Given the description of an element on the screen output the (x, y) to click on. 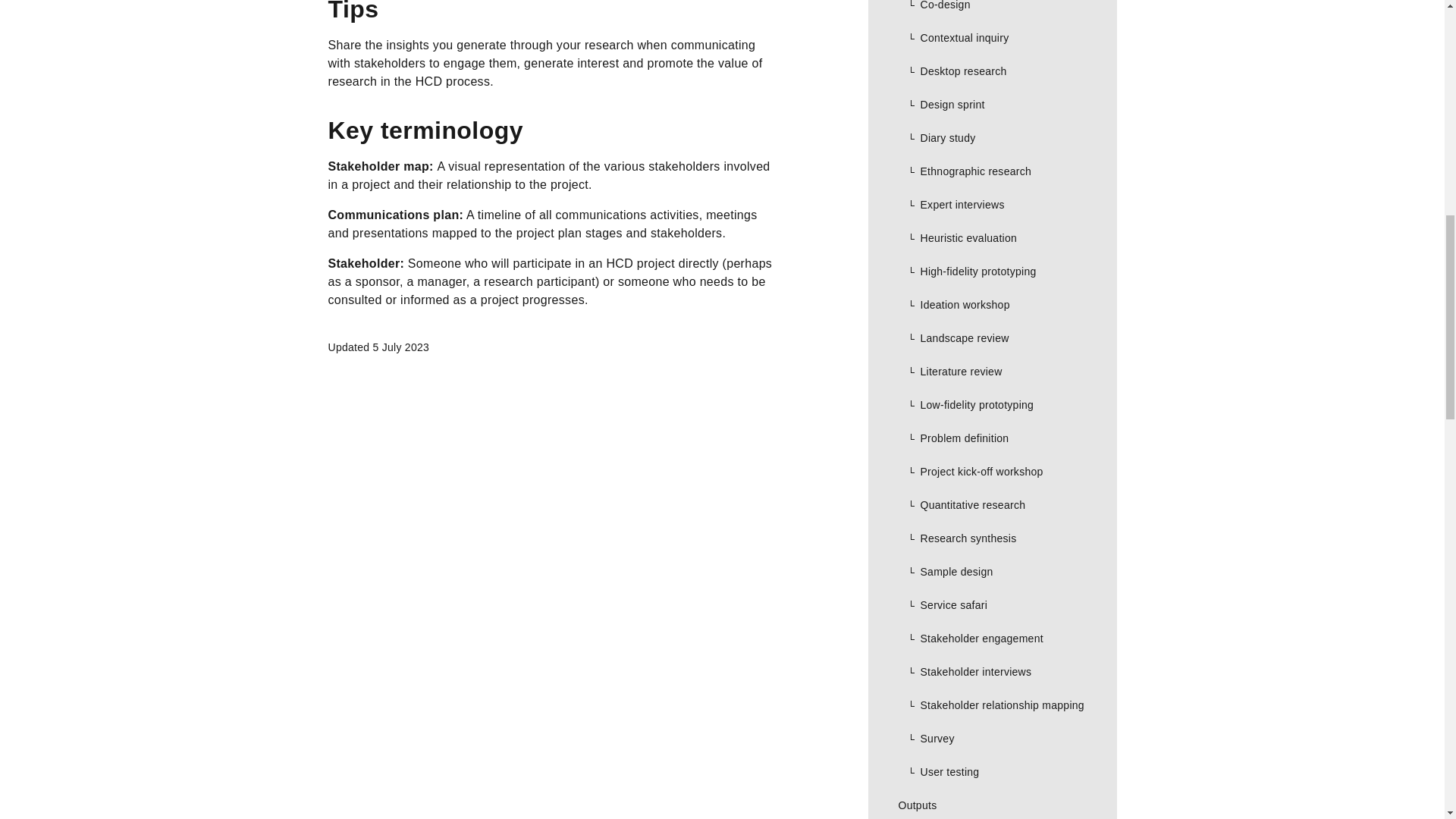
Design sprint (991, 104)
Expert interviews (991, 204)
Stakeholder interviews (991, 671)
Desktop research (991, 70)
Sample design (991, 571)
Stakeholder relationship mapping (991, 704)
Stakeholder engagement (991, 638)
Research synthesis (991, 538)
High-fidelity prototyping (991, 271)
Heuristic evaluation (991, 237)
Quantitative research (991, 504)
Ethnographic research (991, 171)
Ideation workshop (991, 304)
Service safari (991, 604)
Literature review (991, 371)
